Given the description of an element on the screen output the (x, y) to click on. 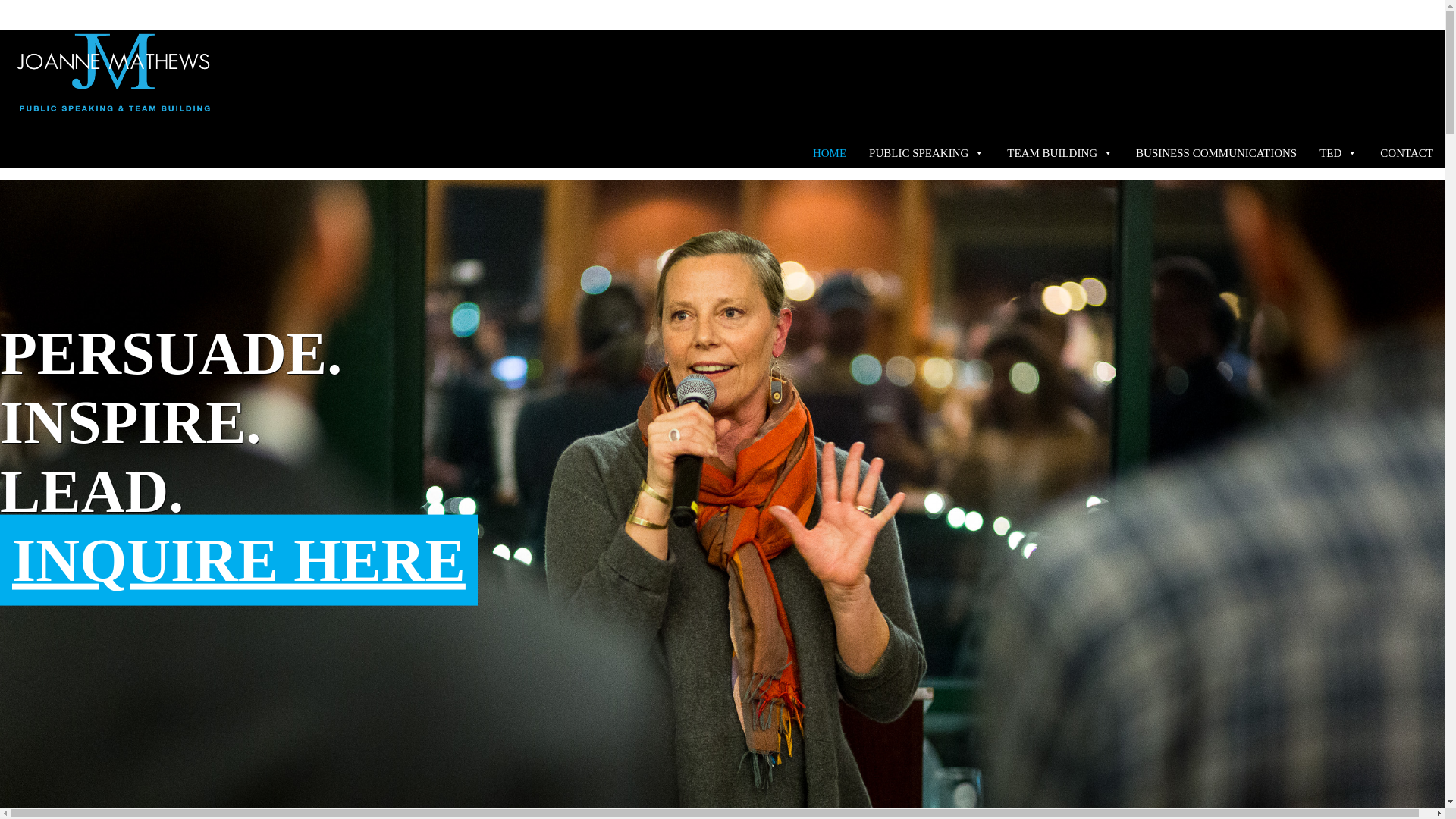
PUBLIC SPEAKING (926, 153)
HOME (829, 153)
TED (1337, 153)
TEAM BUILDING (1059, 153)
INQUIRE HERE (238, 560)
BUSINESS COMMUNICATIONS (1215, 153)
CONTACT (1406, 153)
